Given the description of an element on the screen output the (x, y) to click on. 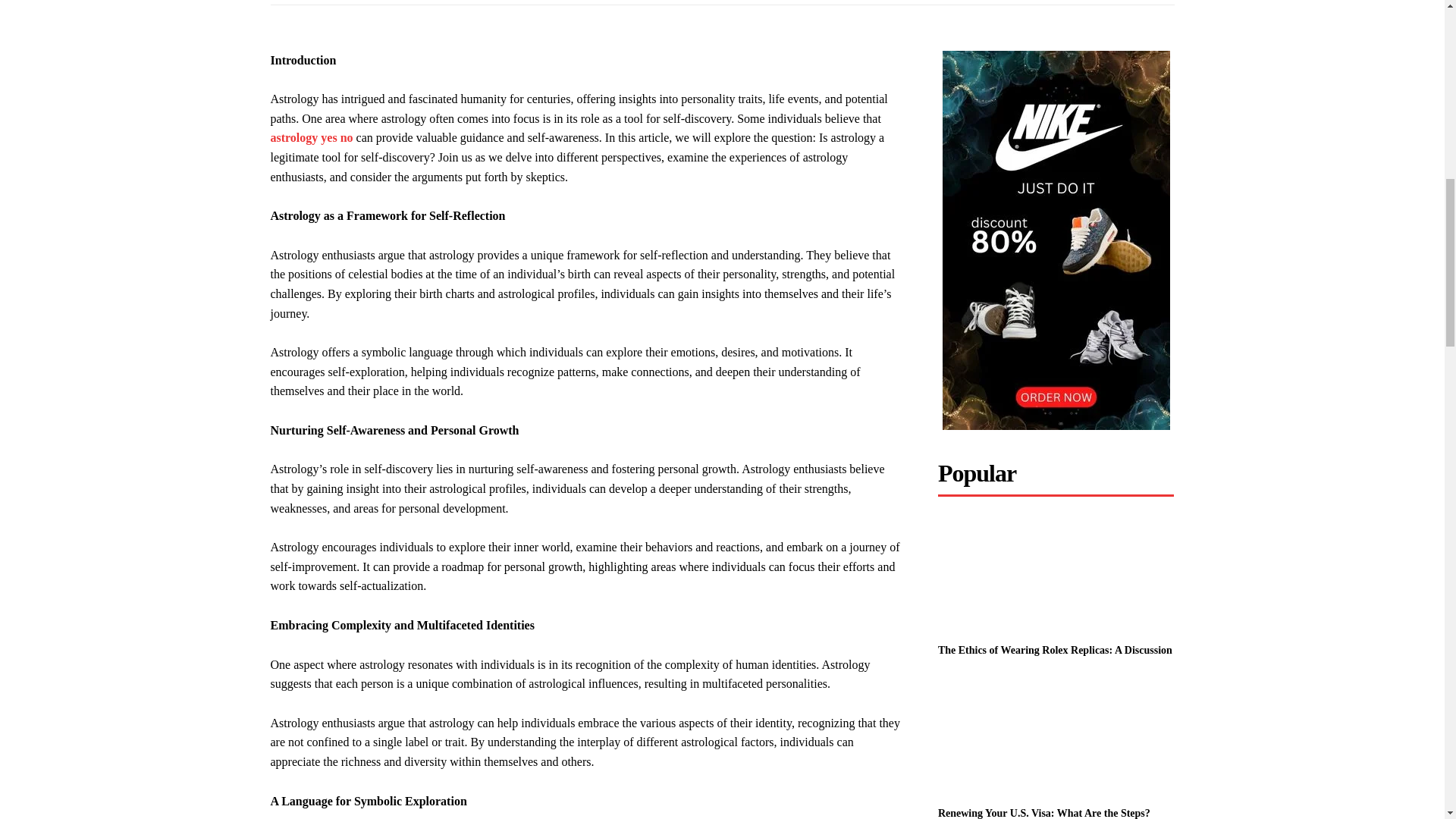
Renewing Your U.S. Visa: What Are the Steps? (1043, 813)
The Ethics of Wearing Rolex Replicas: A Discussion (1054, 650)
astrology yes no (310, 137)
Renewing Your U.S. Visa: What Are the Steps? (1055, 737)
The Ethics of Wearing Rolex Replicas: A Discussion (1055, 574)
